Given the description of an element on the screen output the (x, y) to click on. 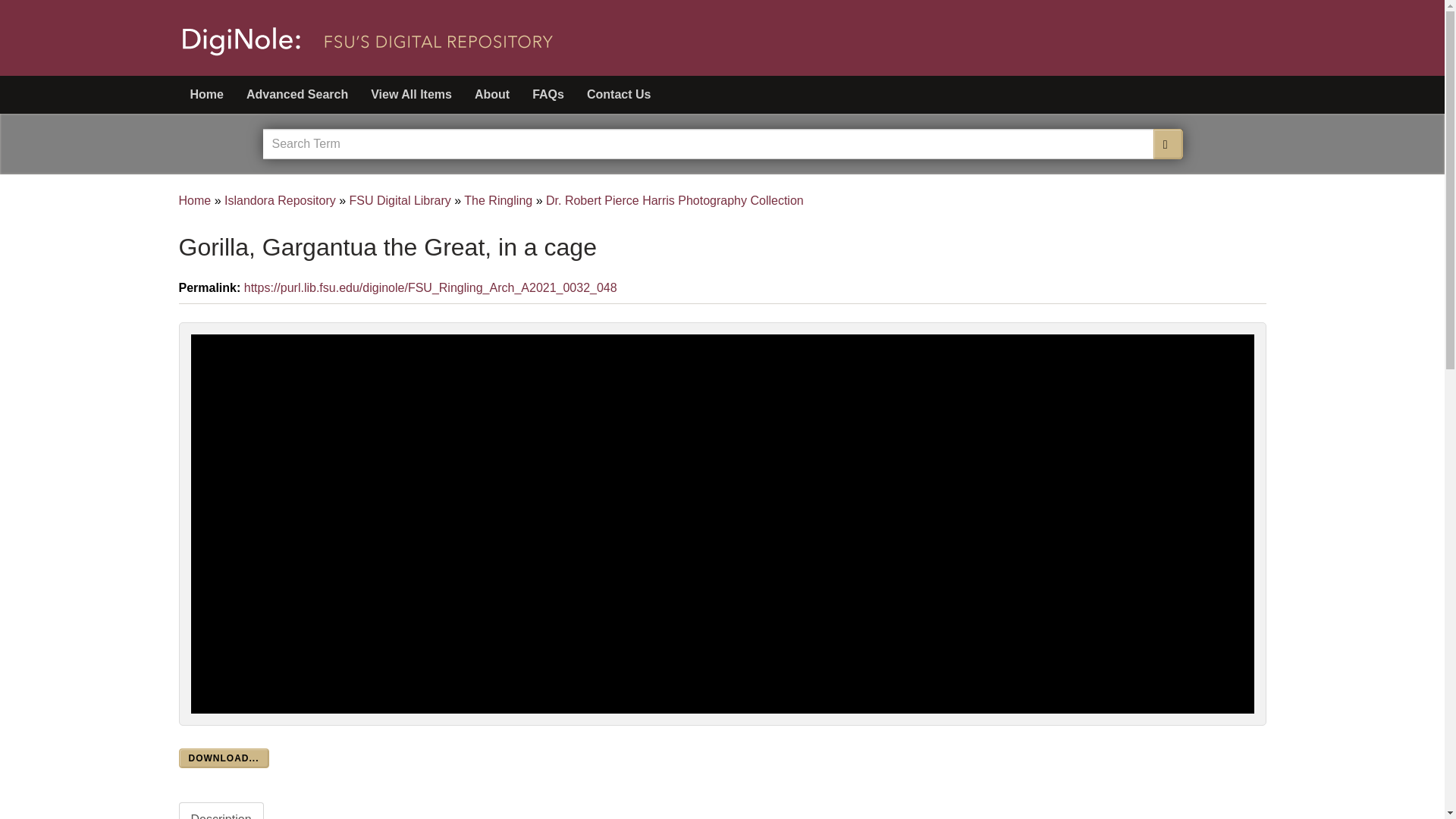
Home (211, 94)
View All Items (411, 94)
Home (195, 200)
Description (221, 810)
FSU Digital Library (400, 200)
SEARCH (1167, 143)
The Ringling (498, 200)
Dr. Robert Pierce Harris Photography Collection (674, 200)
FAQs (548, 94)
Advanced Search (296, 94)
About (492, 94)
Islandora Repository (280, 200)
Contact Us (618, 94)
View description applying to this item (221, 810)
